Given the description of an element on the screen output the (x, y) to click on. 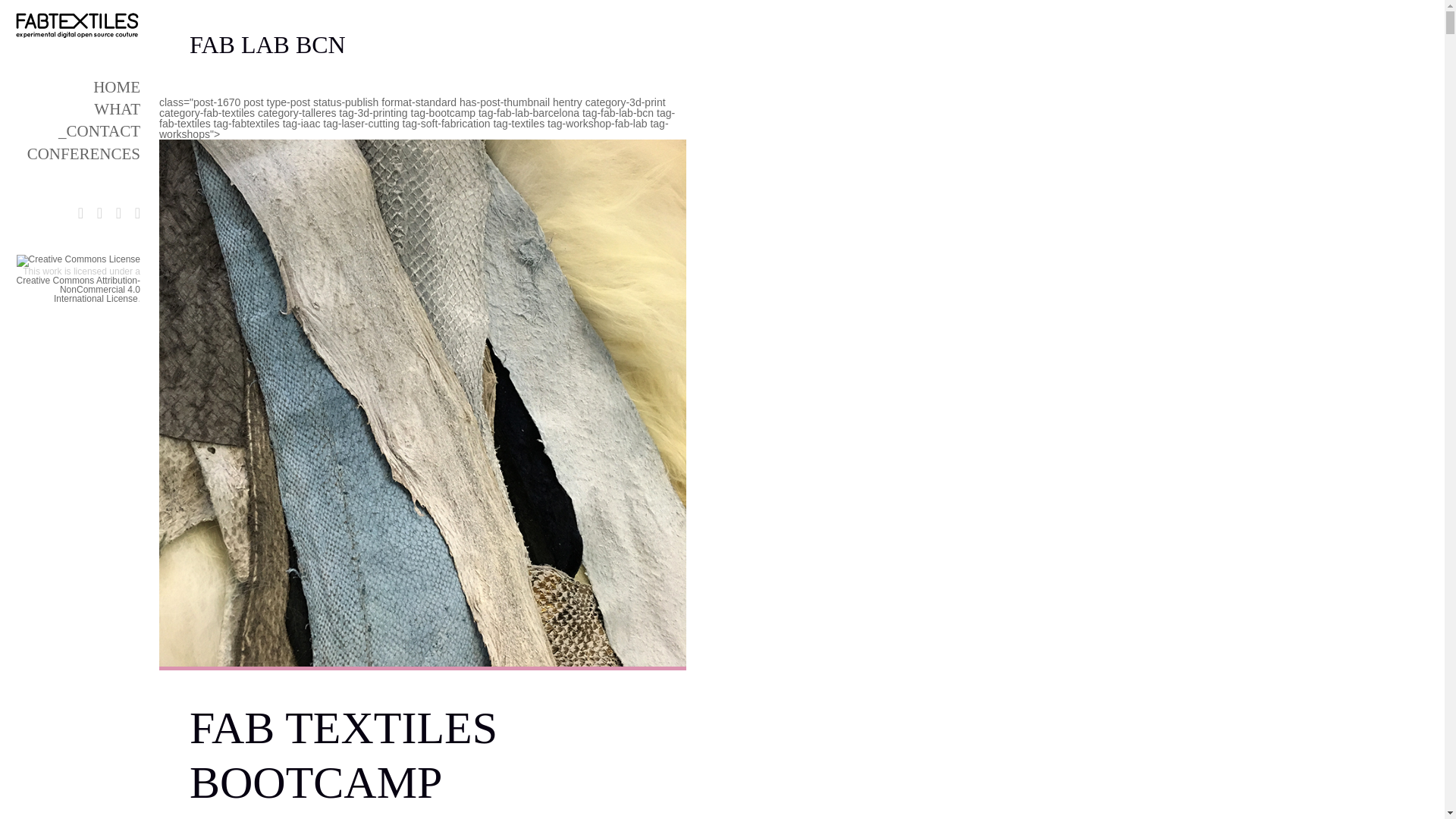
HOME (116, 86)
fab lab bcn (558, 818)
Permalink to Fab Textiles Bootcamp (213, 818)
CONFERENCES (83, 153)
fab textiles (603, 818)
3d printing (405, 818)
fab textiles (312, 818)
FAB TEXTILES BOOTCAMP (343, 754)
WHAT (116, 108)
fab lab barcelona (502, 818)
